Given the description of an element on the screen output the (x, y) to click on. 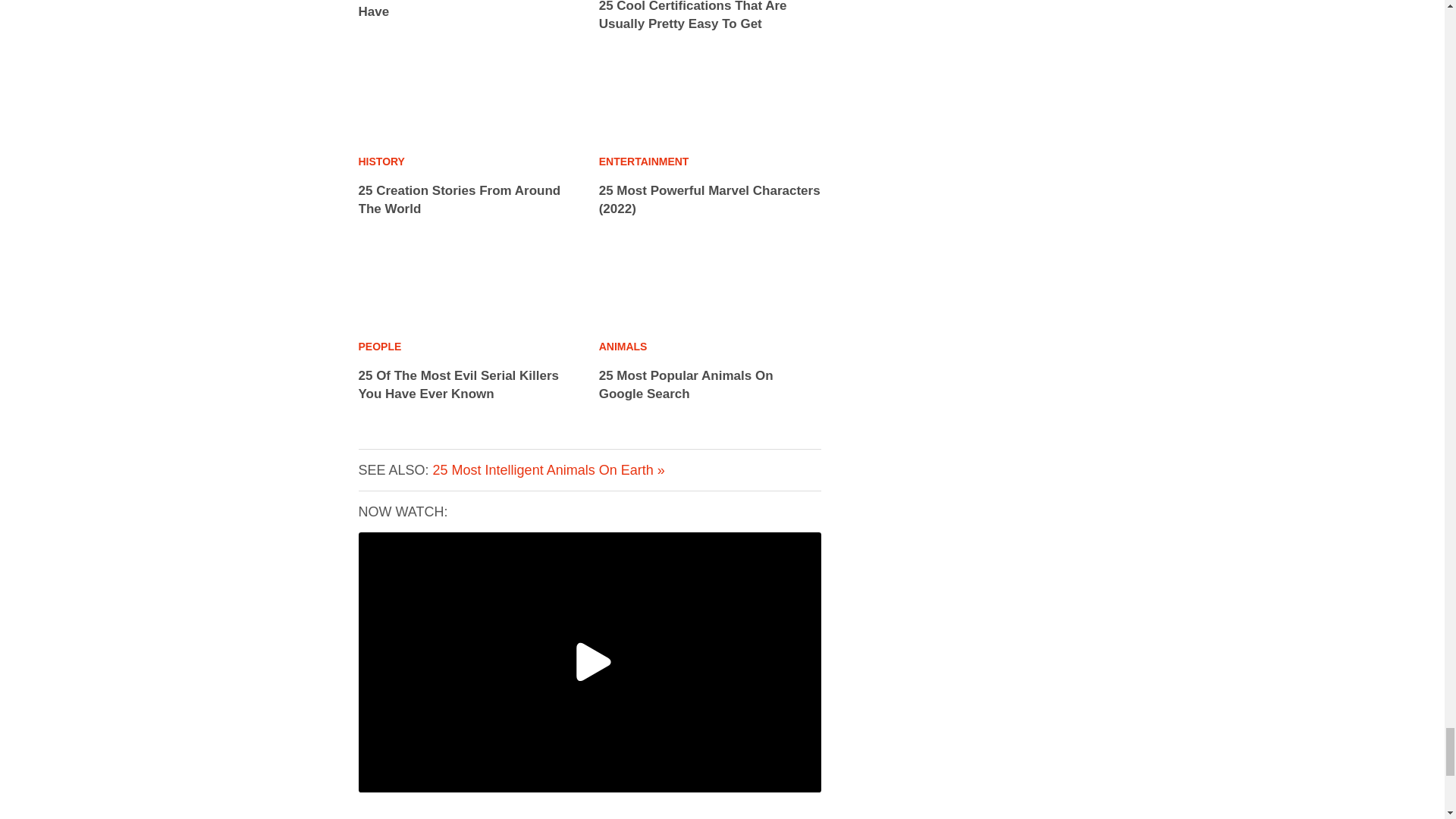
Read Full Post (457, 9)
25 Strangest Phobias You Could Have (457, 9)
